Given the description of an element on the screen output the (x, y) to click on. 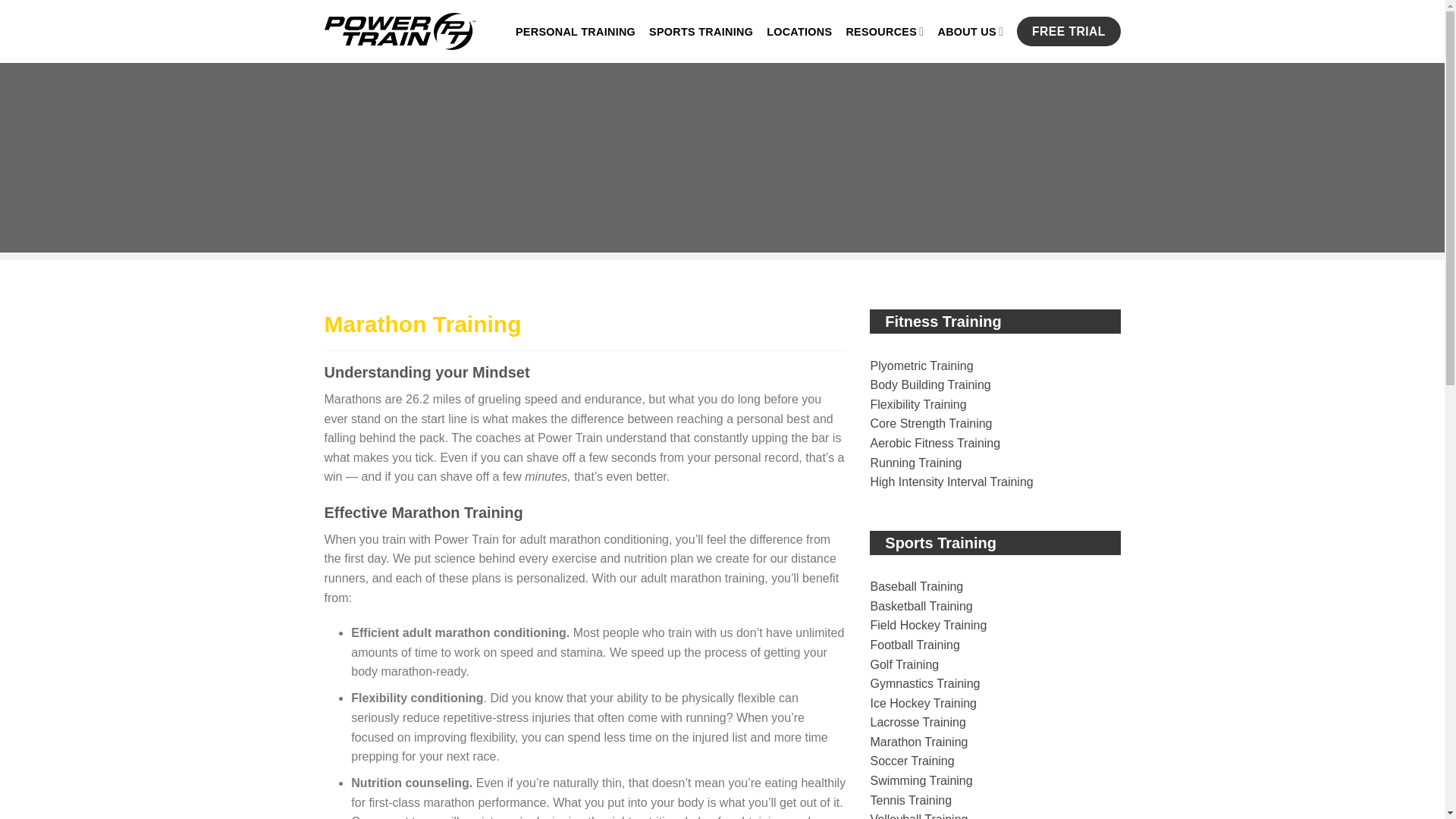
Body Building Training (930, 384)
High Intensity Interval Training (951, 481)
Soccer Training (912, 760)
ABOUT US (970, 30)
Flexibility Training (918, 404)
Ice Hockey Training (923, 703)
Tennis Training (911, 799)
Baseball Training (916, 585)
LOCATIONS (799, 31)
